Given the description of an element on the screen output the (x, y) to click on. 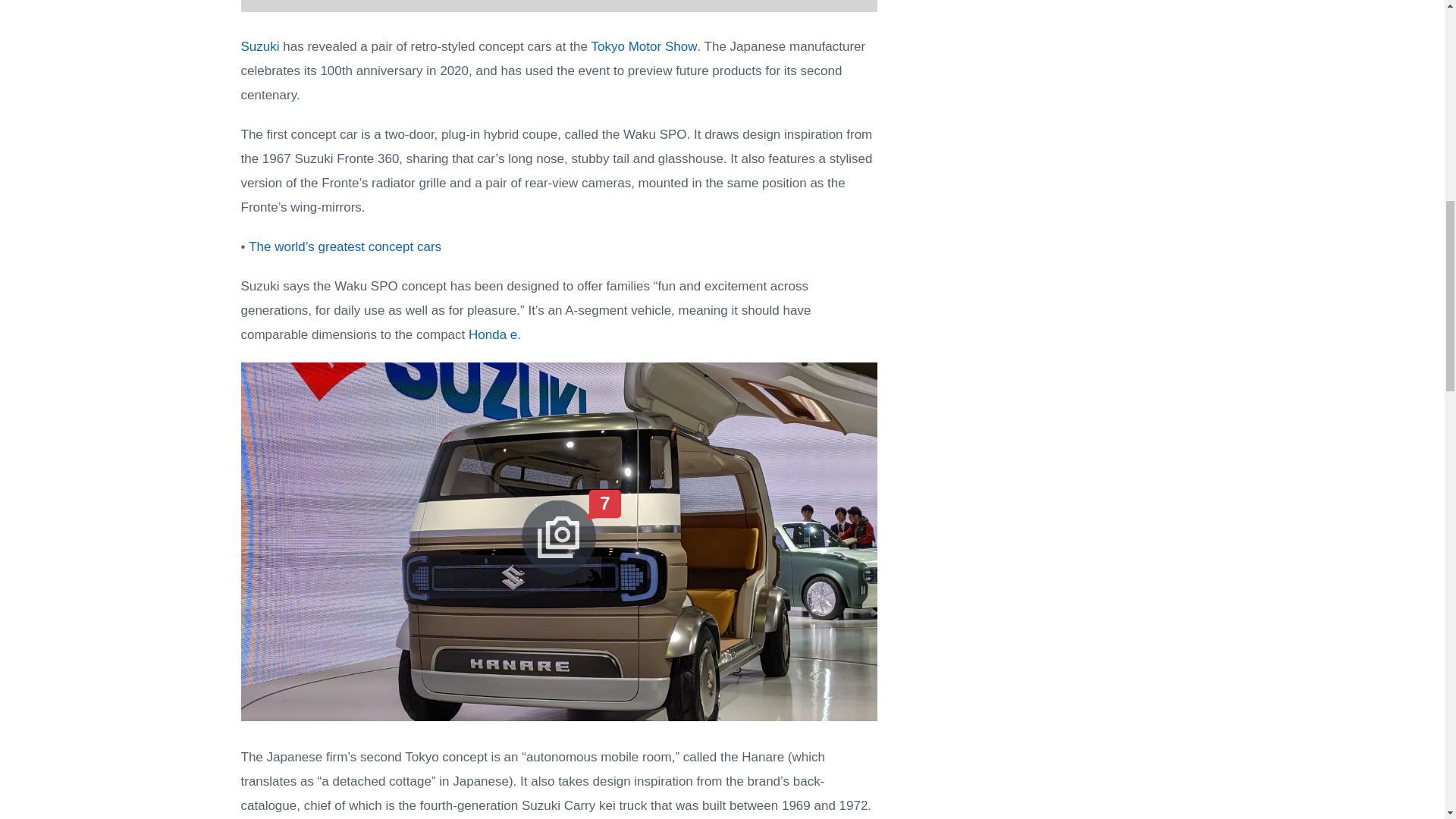
Tokyo Motor Show (644, 46)
Honda e (492, 334)
Suzuki (260, 46)
